Given the description of an element on the screen output the (x, y) to click on. 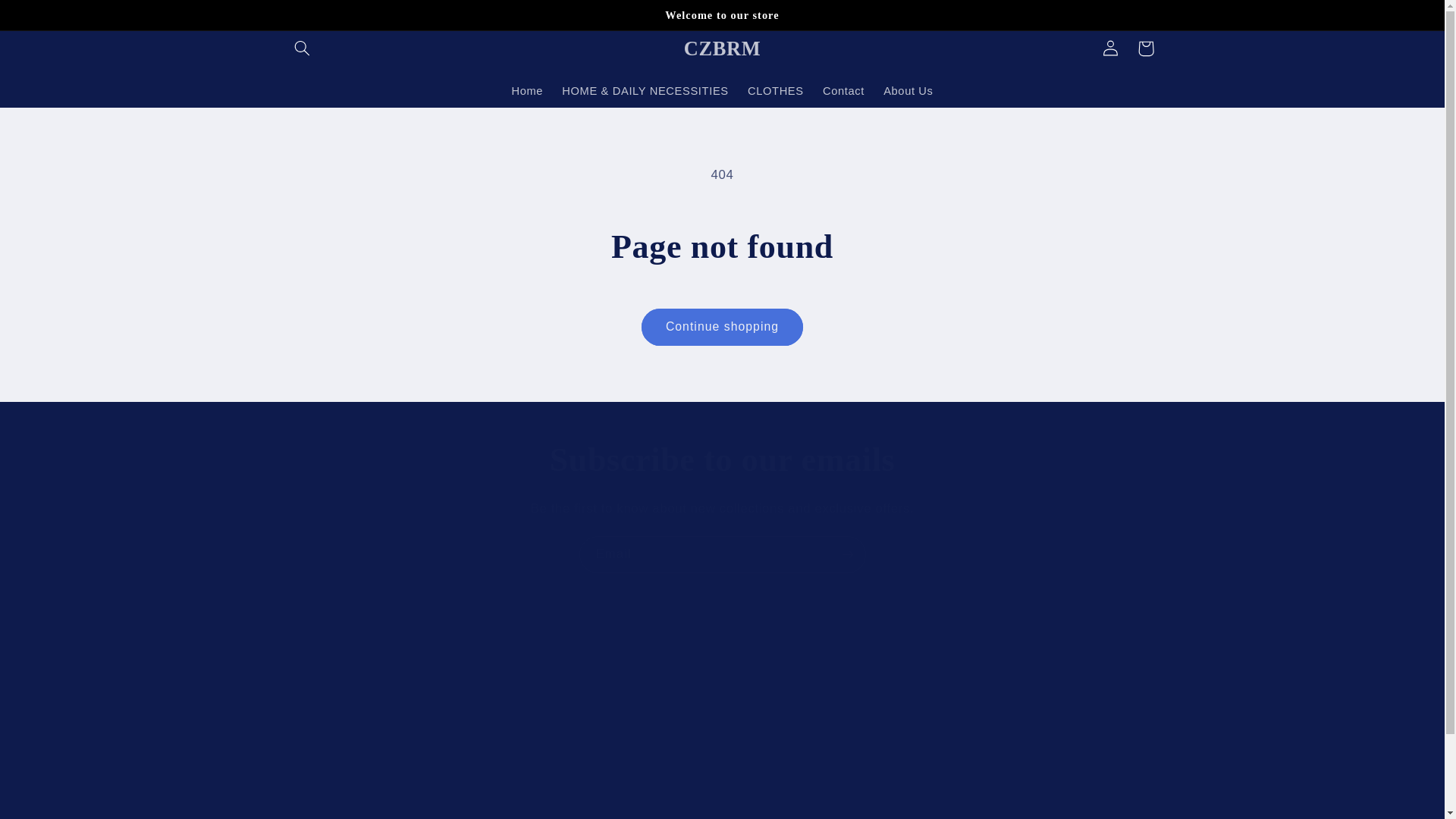
Payment Method (329, 671)
Search (602, 697)
Continue shopping (722, 326)
CLOTHES (721, 694)
Contact (775, 90)
Privacy Policy (842, 90)
Contact us (321, 724)
About Us (612, 724)
Email (909, 90)
Cart (722, 554)
Skip to content (1145, 48)
CZBRM (48, 18)
About Us (722, 48)
